Given the description of an element on the screen output the (x, y) to click on. 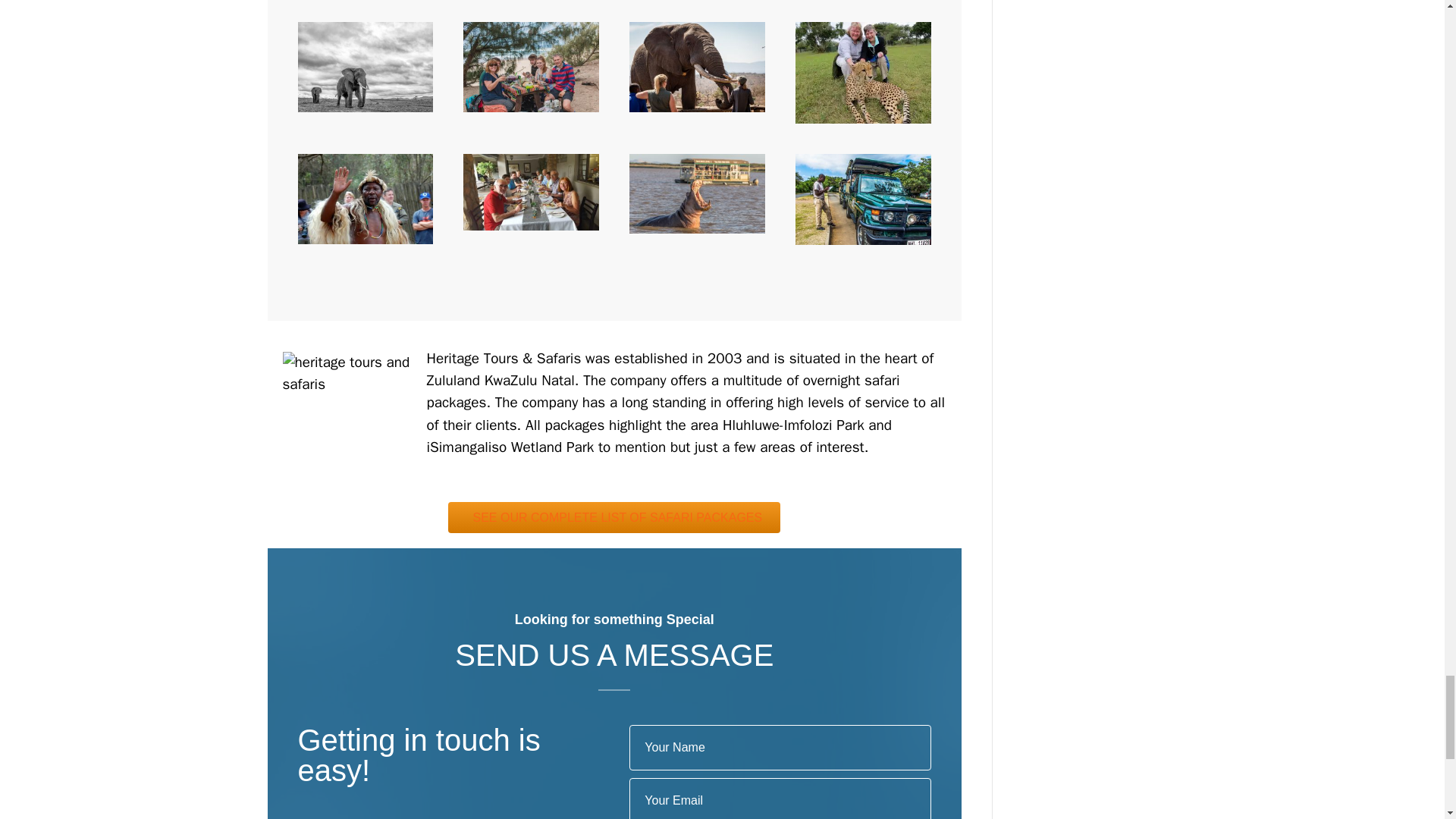
4 night south africa safari package (530, 67)
hluhluwe elephant interaction (696, 67)
Big 5 Safari South Africa (364, 67)
